Given the description of an element on the screen output the (x, y) to click on. 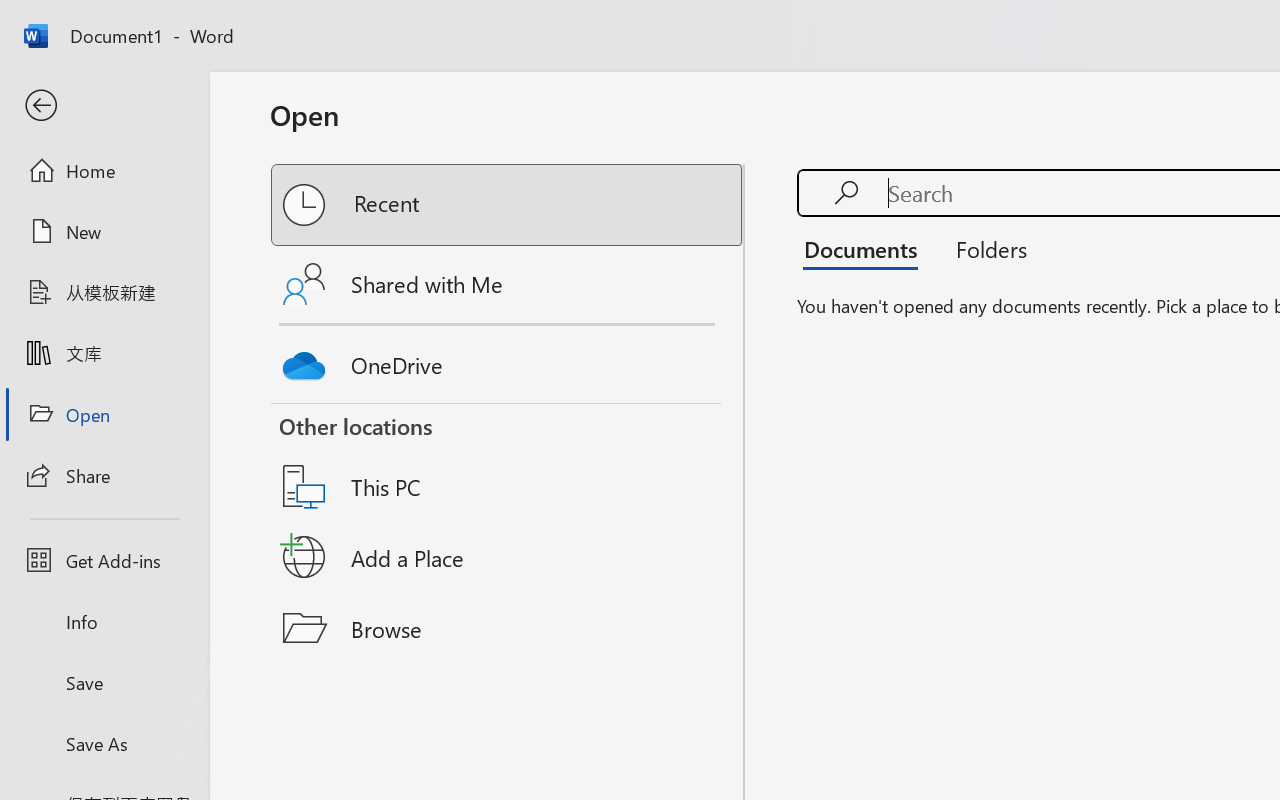
Recent (507, 205)
Save As (104, 743)
